Given the description of an element on the screen output the (x, y) to click on. 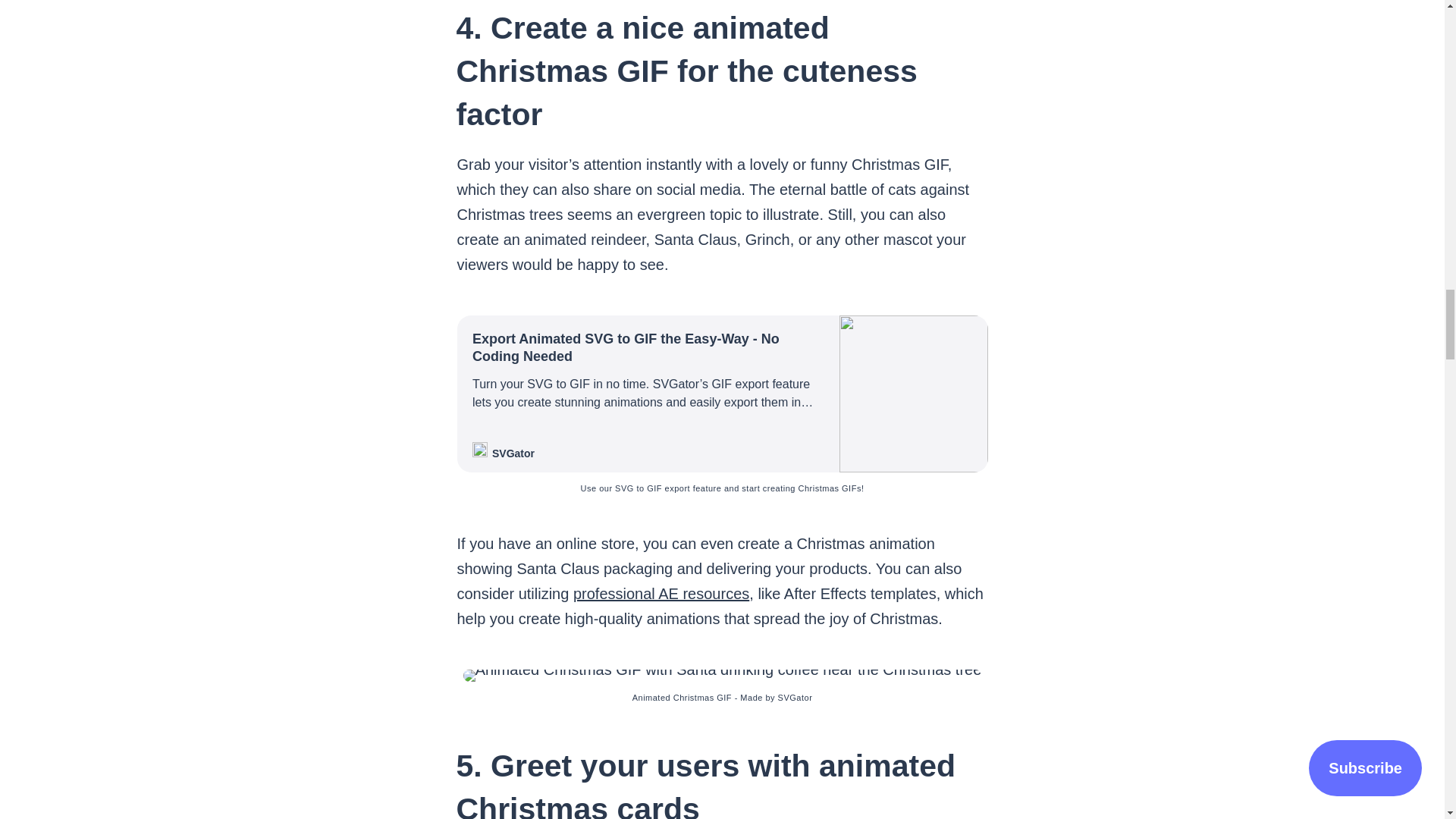
professional AE resources (661, 593)
